Given the description of an element on the screen output the (x, y) to click on. 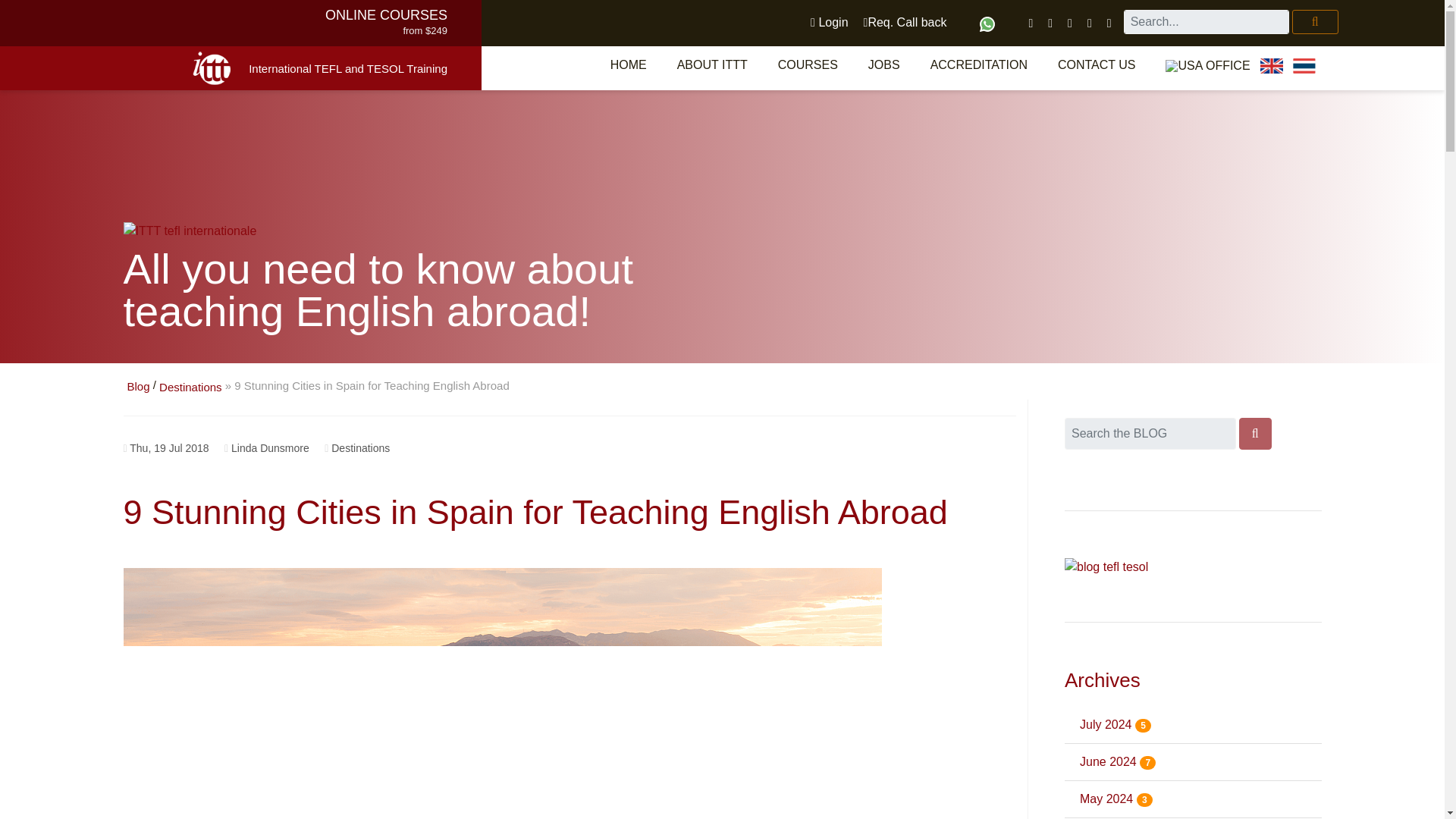
UK Office (1271, 65)
International TEFL and TESOL Training (347, 68)
JOBS (884, 64)
Request a call back (905, 22)
CONTACT US (1096, 64)
Chat with us on Whatsapp (986, 23)
Req. Call back (905, 22)
ACCREDITATION (978, 64)
ONLINE COURSES (385, 14)
ABOUT ITTT (712, 64)
